Given the description of an element on the screen output the (x, y) to click on. 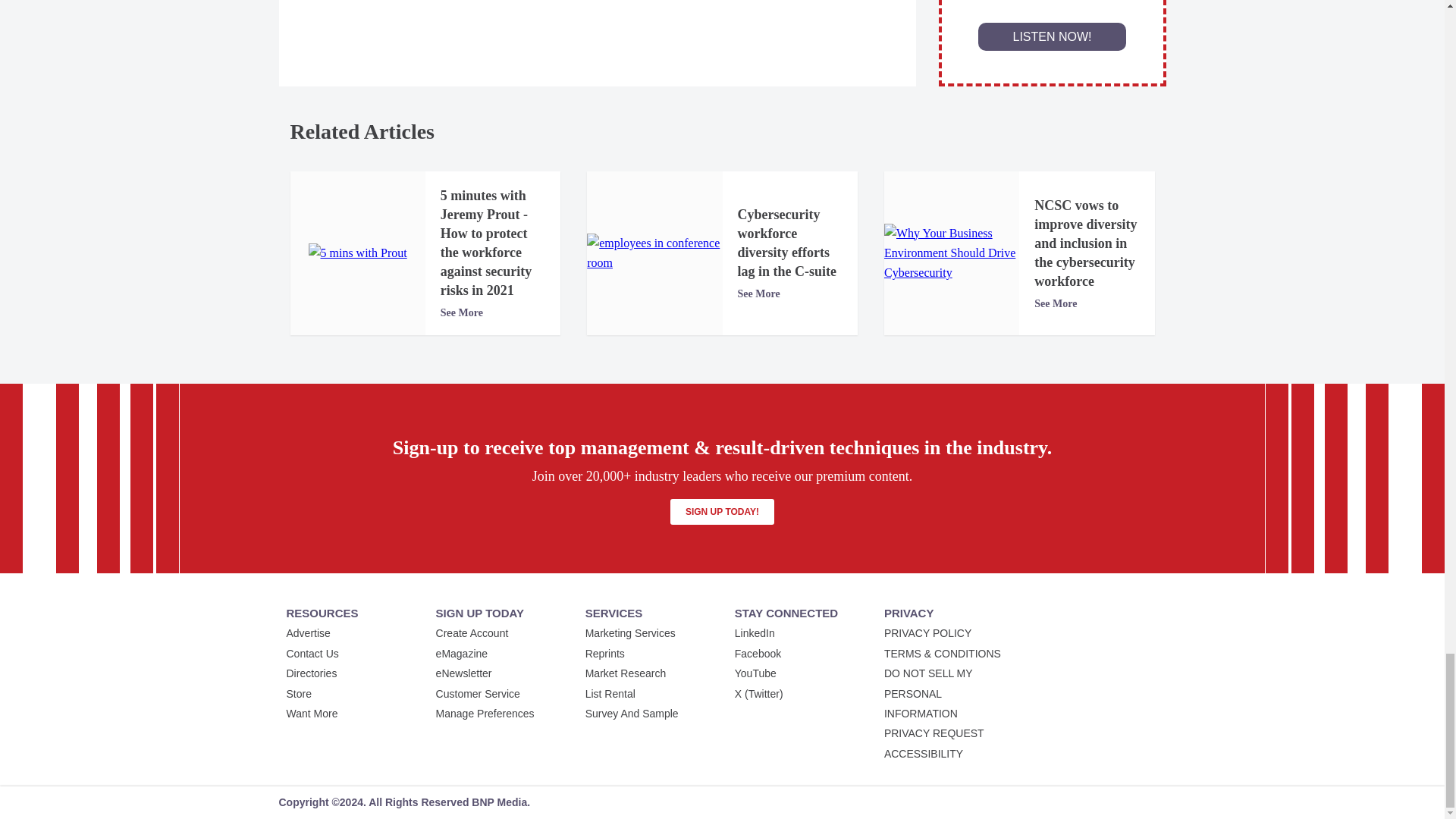
christina-wocintechchat-com-l6iKdDtkirk-unsplash.jpg (654, 253)
Why Your Business Environment Should Drive Cybersecurity (951, 253)
